Given the description of an element on the screen output the (x, y) to click on. 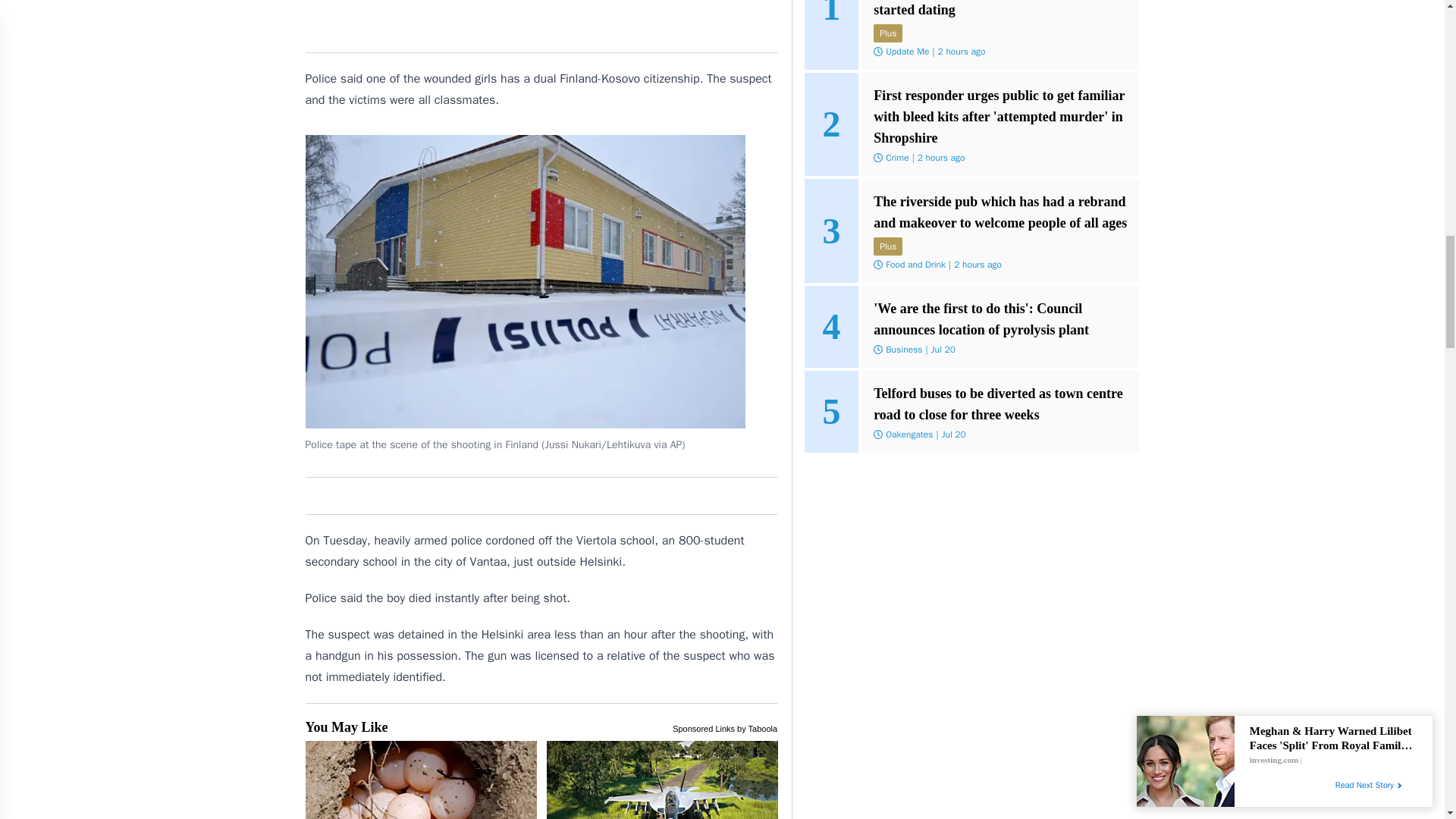
3rd party ad content (541, 20)
